Given the description of an element on the screen output the (x, y) to click on. 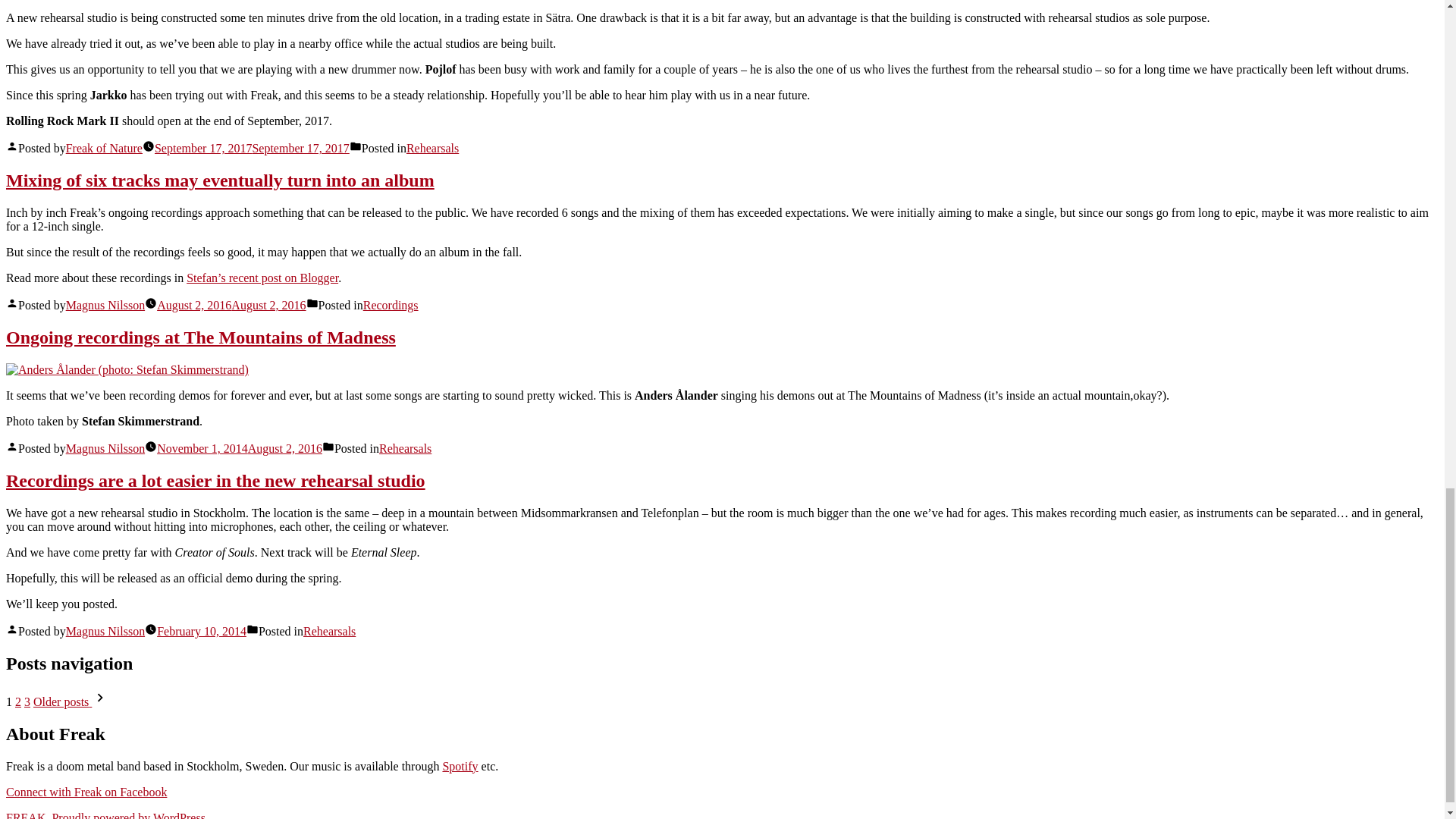
November 1, 2014August 2, 2016 (239, 448)
Older posts (70, 701)
Magnus Nilsson (104, 631)
Recordings (390, 305)
Mixing of six tracks may eventually turn into an album (219, 180)
Magnus Nilsson (104, 448)
Recordings are a lot easier in the new rehearsal studio (215, 480)
Connect with Freak on Facebook (86, 790)
Rehearsals (404, 448)
Rehearsals (328, 631)
